Given the description of an element on the screen output the (x, y) to click on. 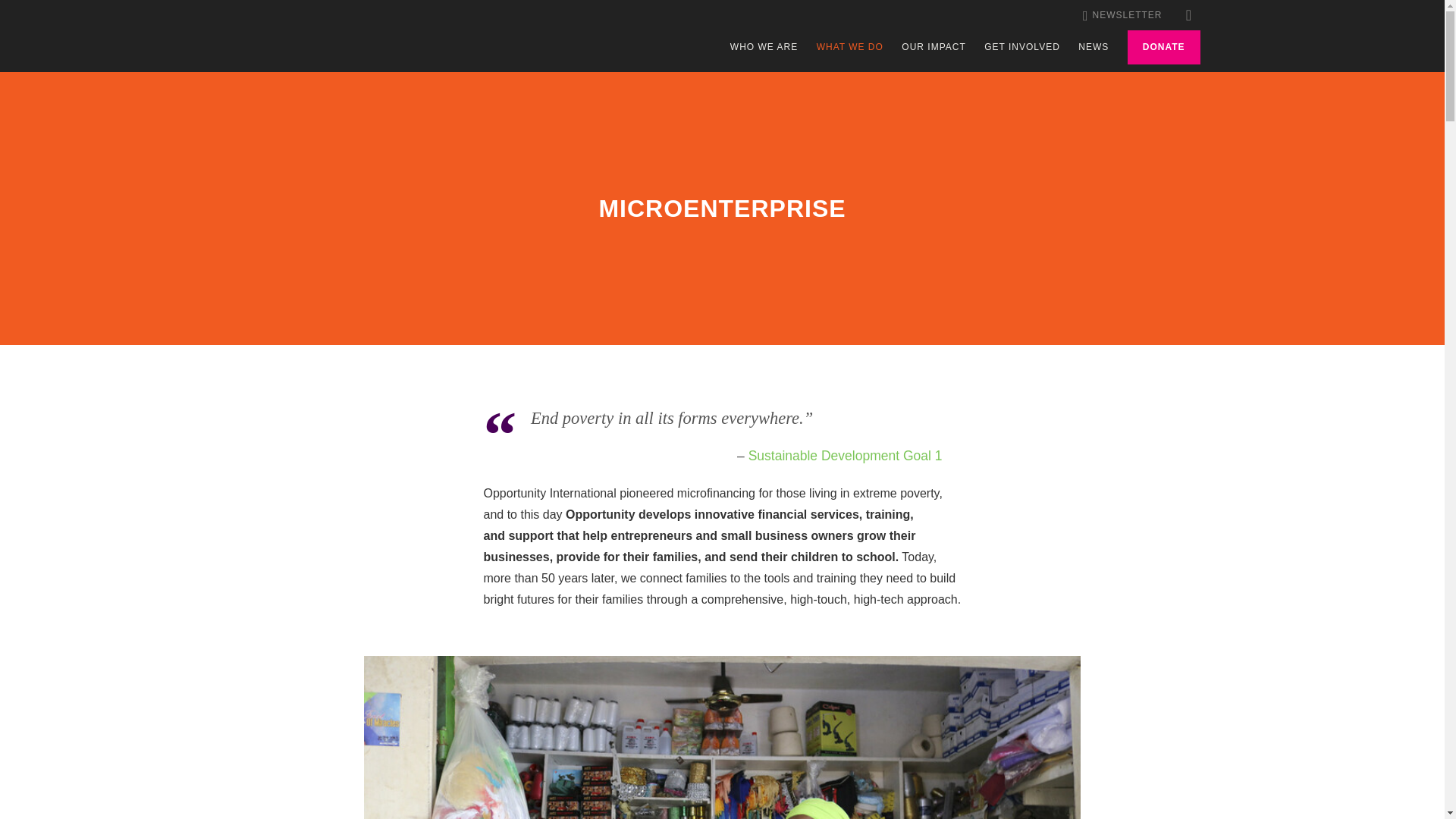
Who We Are (763, 47)
What We Do (849, 47)
NEWSLETTER (1122, 14)
WHO WE ARE (763, 47)
OUR IMPACT (933, 47)
WHAT WE DO (849, 47)
Our Impact (933, 47)
Get Involved (1021, 47)
GET INVOLVED (1021, 47)
